Given the description of an element on the screen output the (x, y) to click on. 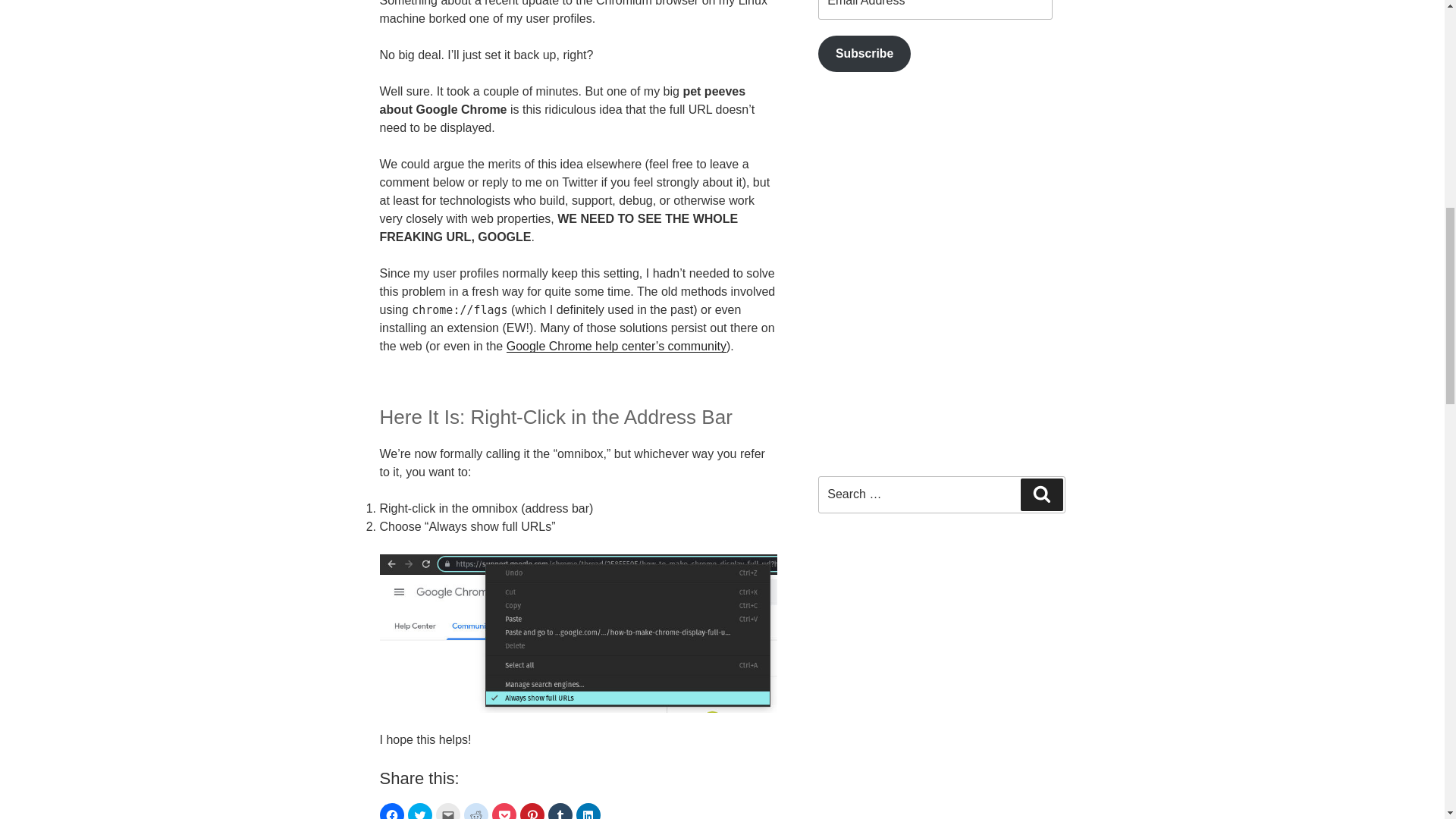
Click to share on Reddit (475, 811)
Click to share on LinkedIn (587, 811)
Click to share on Tumblr (559, 811)
Search (1041, 494)
Click to share on Pocket (503, 811)
Click to share on Email (447, 811)
Subscribe (864, 54)
Click to share on Twitter (419, 811)
Click to share on Facebook (390, 811)
Click to share on Pinterest (531, 811)
